Given the description of an element on the screen output the (x, y) to click on. 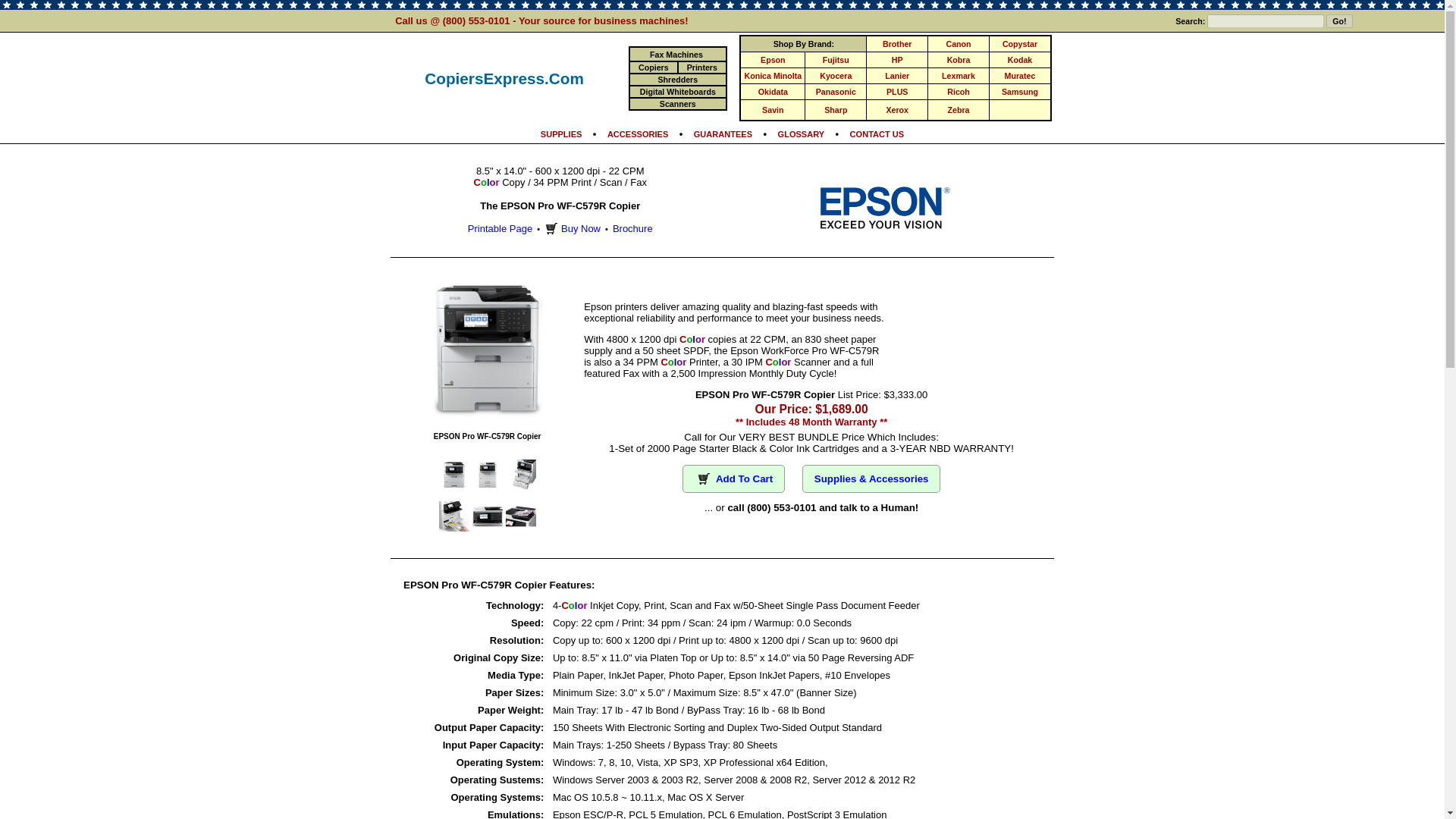
Digital Whiteboards (678, 90)
Panasonic (835, 91)
Kodak (1019, 59)
Brochure (632, 228)
Fax Machines (676, 53)
Epson (773, 59)
EPSON Pro WF-C579R Copier (520, 496)
Buy the EPSON Pro WF-C579R Copier now! (733, 478)
Okidata (772, 91)
CONTACT US (877, 133)
EPSON Pro WF-C579R Copier Office Machines (884, 226)
Printable page for the EPSON Pro WF-C579R Copier now! (499, 228)
Copiers (653, 66)
Copystar (1019, 43)
Go! (1339, 20)
